Given the description of an element on the screen output the (x, y) to click on. 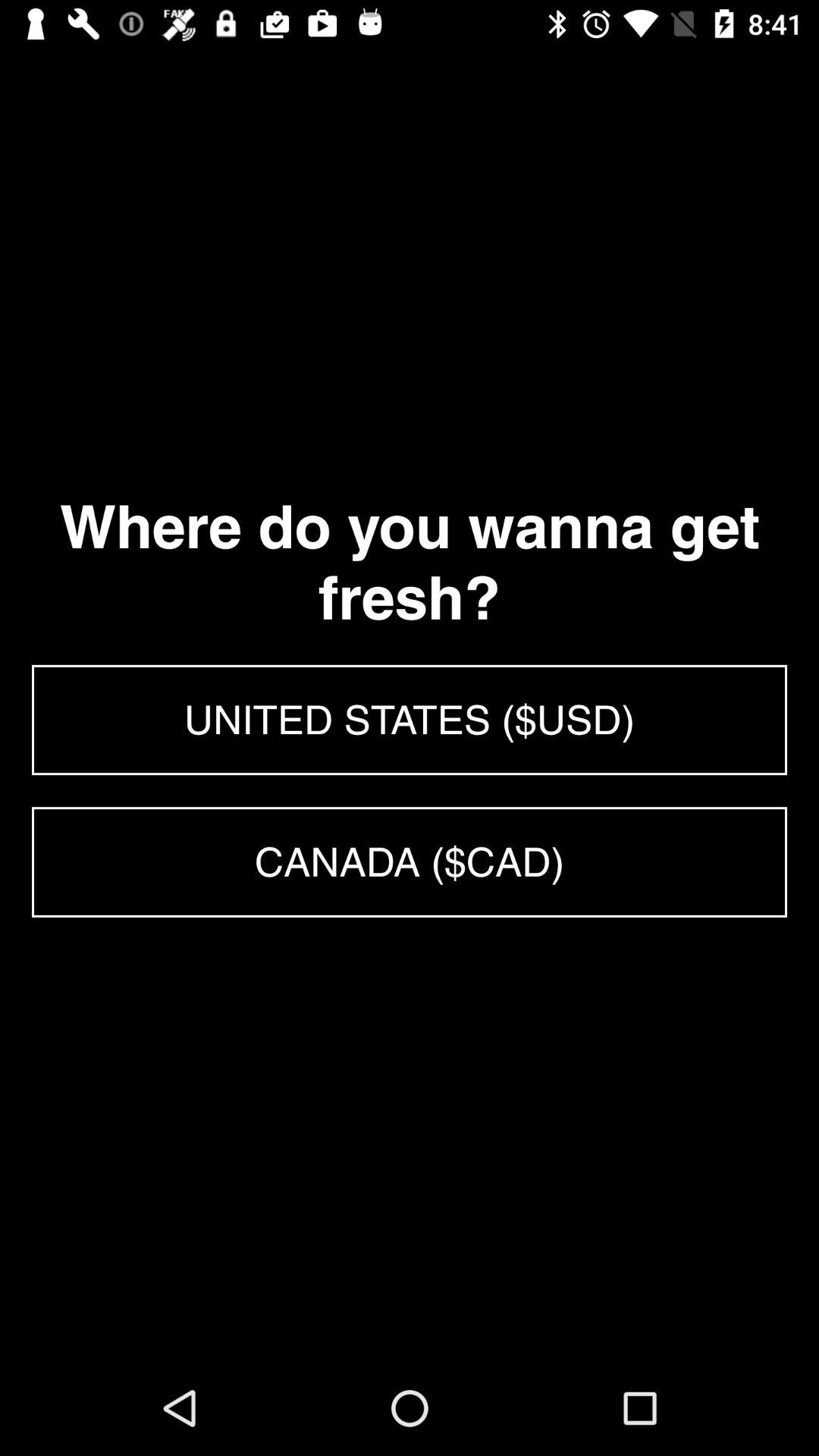
flip to the united states ($usd) item (409, 719)
